Given the description of an element on the screen output the (x, y) to click on. 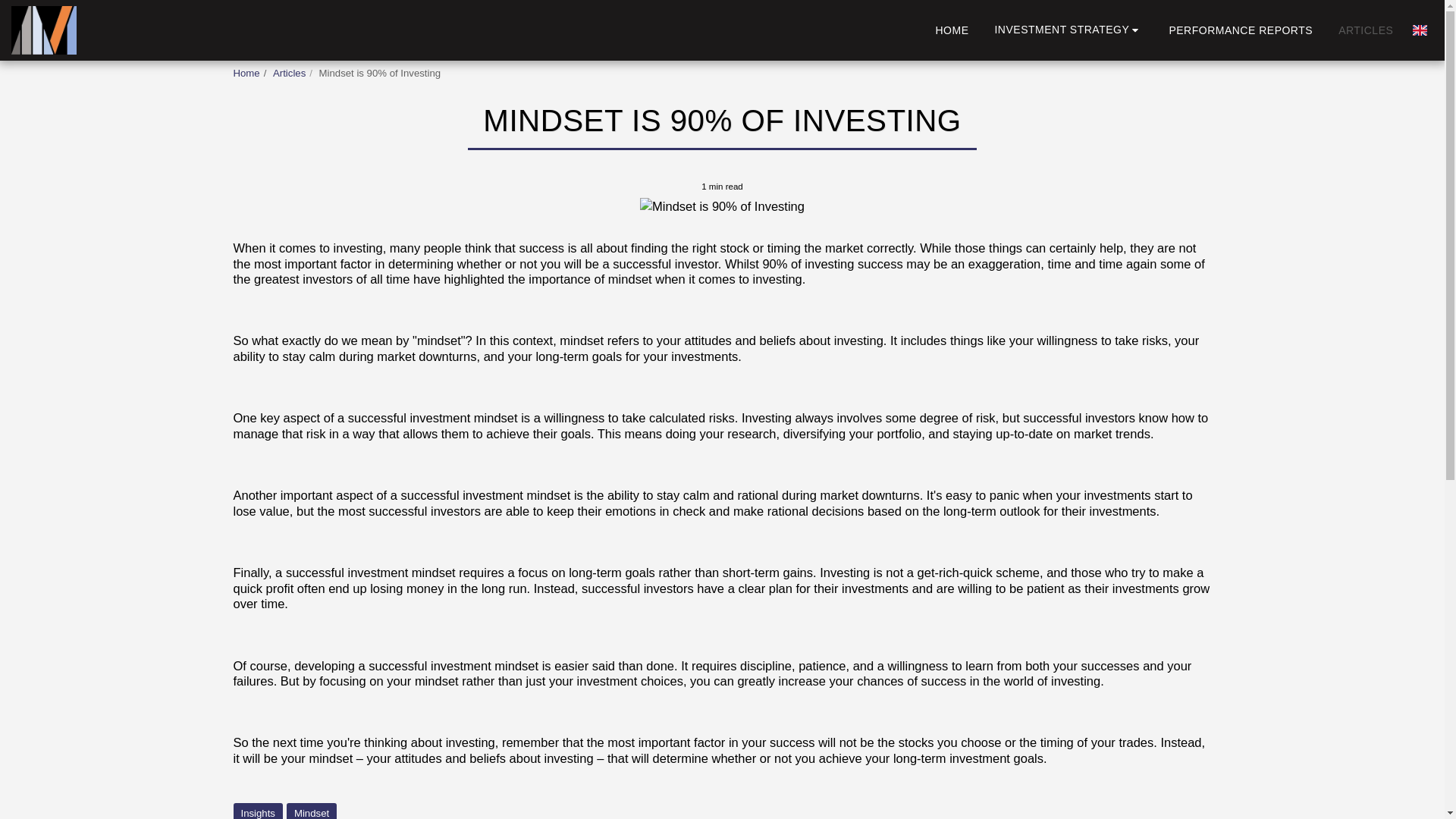
Home (246, 72)
INVESTMENT STRATEGY   (1068, 29)
Articles (289, 72)
ARTICLES (1365, 29)
Mindset (311, 811)
PERFORMANCE REPORTS (1240, 29)
HOME (951, 29)
Insights (257, 811)
